Given the description of an element on the screen output the (x, y) to click on. 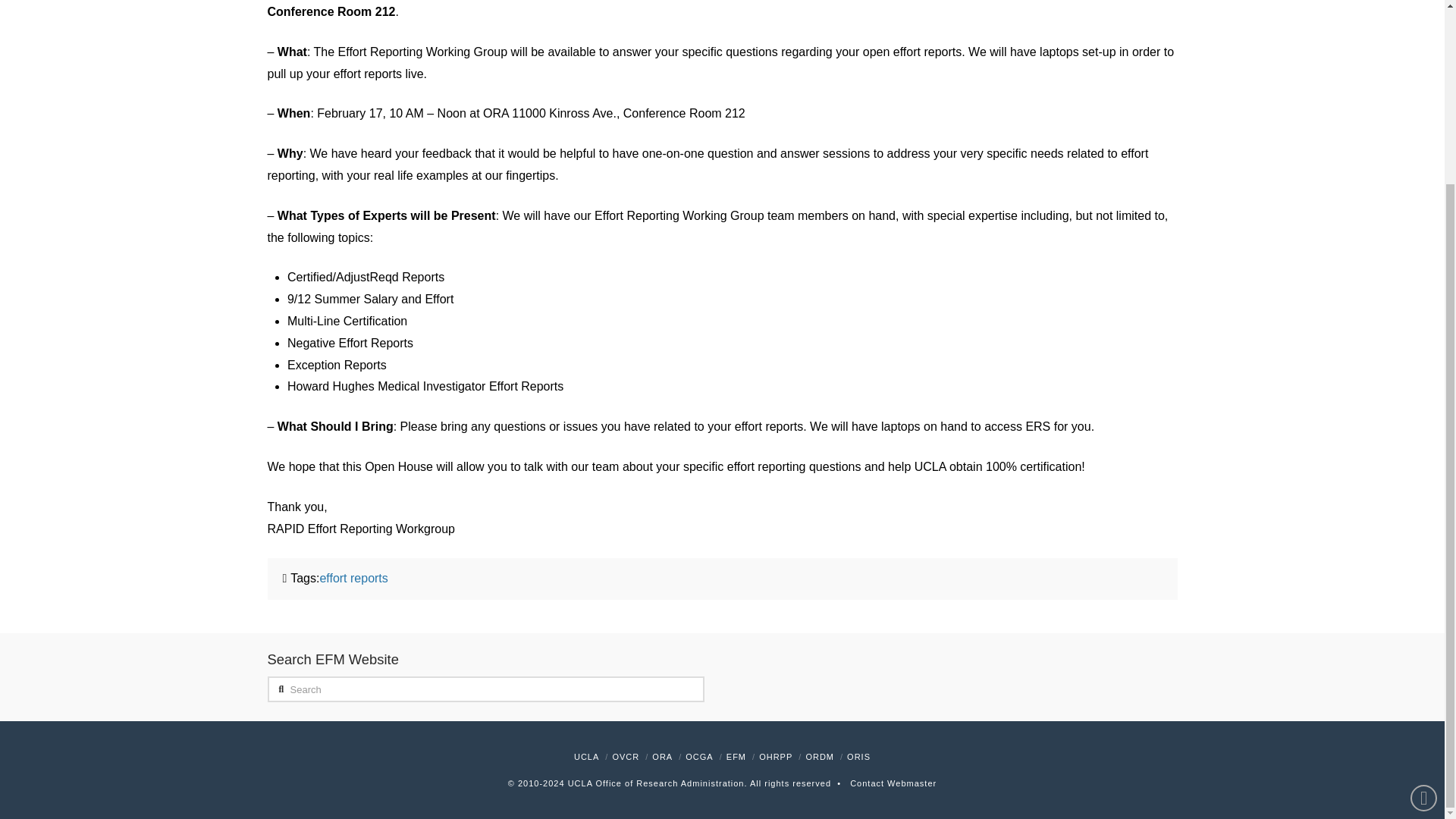
Back to Top (1423, 570)
